Given the description of an element on the screen output the (x, y) to click on. 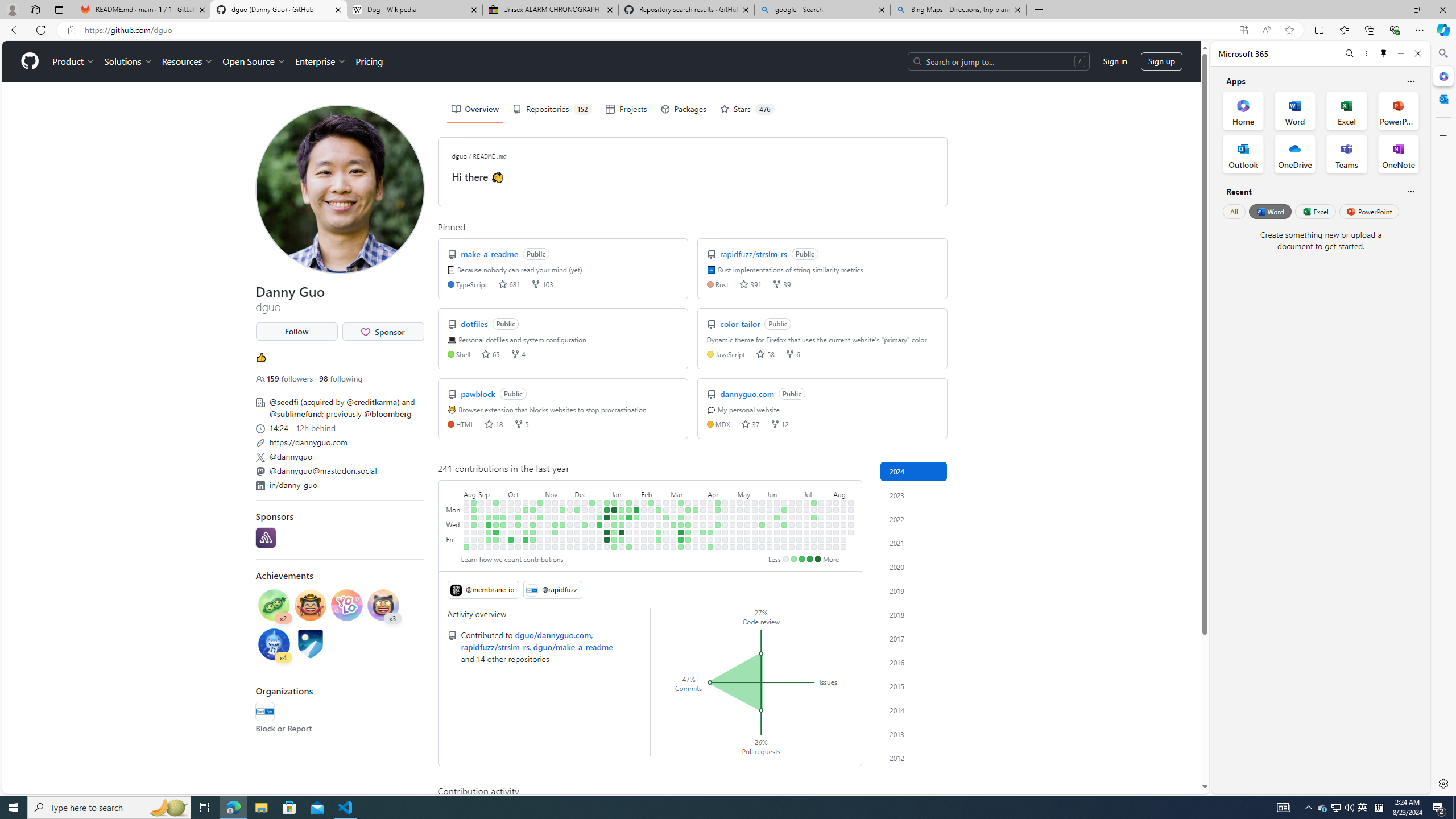
forks 4 (517, 353)
2 contributions on March 12th. (681, 517)
No contributions on December 19th. (592, 517)
1 contribution on December 13th. (585, 524)
No contributions on March 29th. (695, 539)
